Given the description of an element on the screen output the (x, y) to click on. 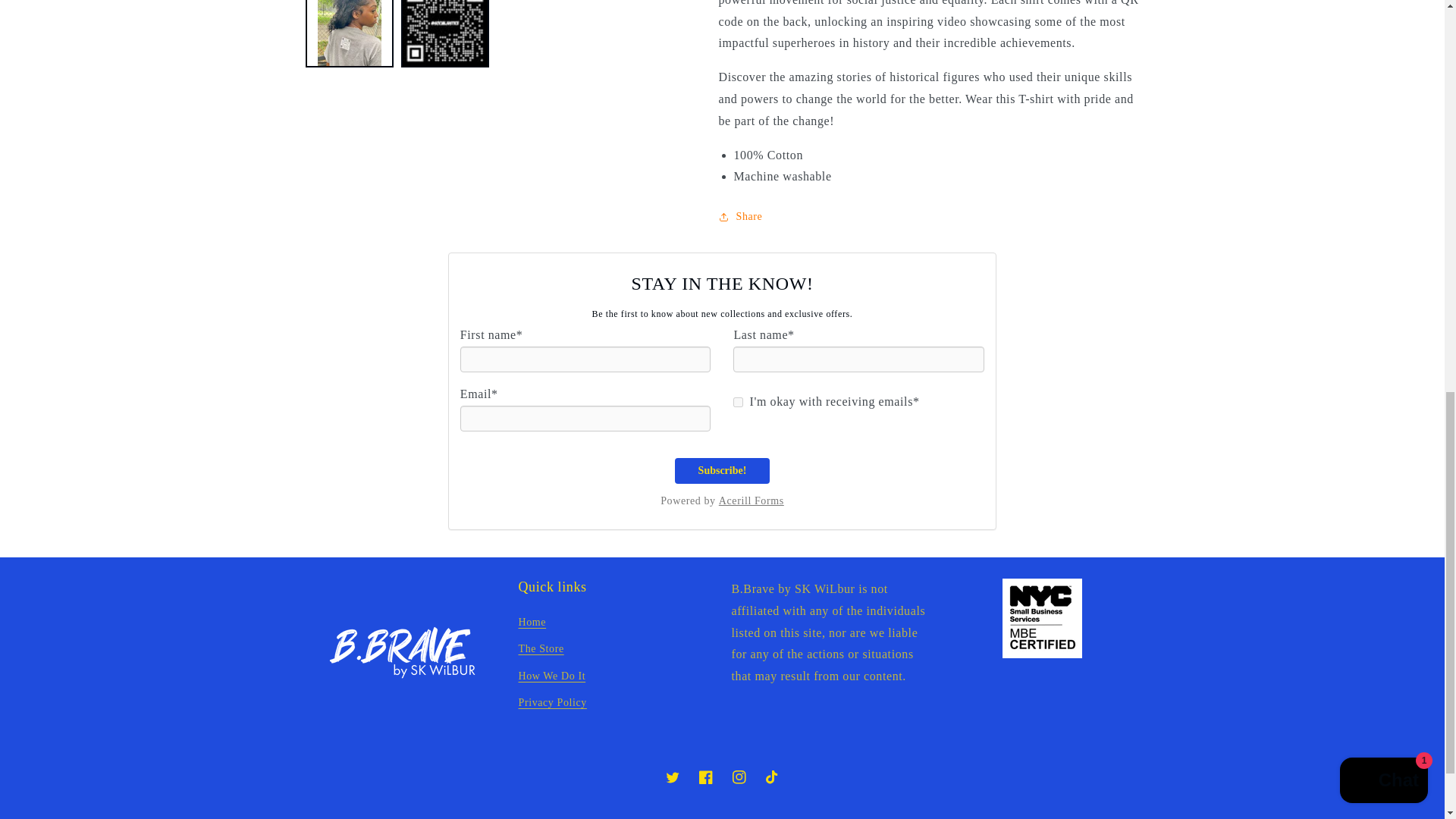
on (737, 402)
